Given the description of an element on the screen output the (x, y) to click on. 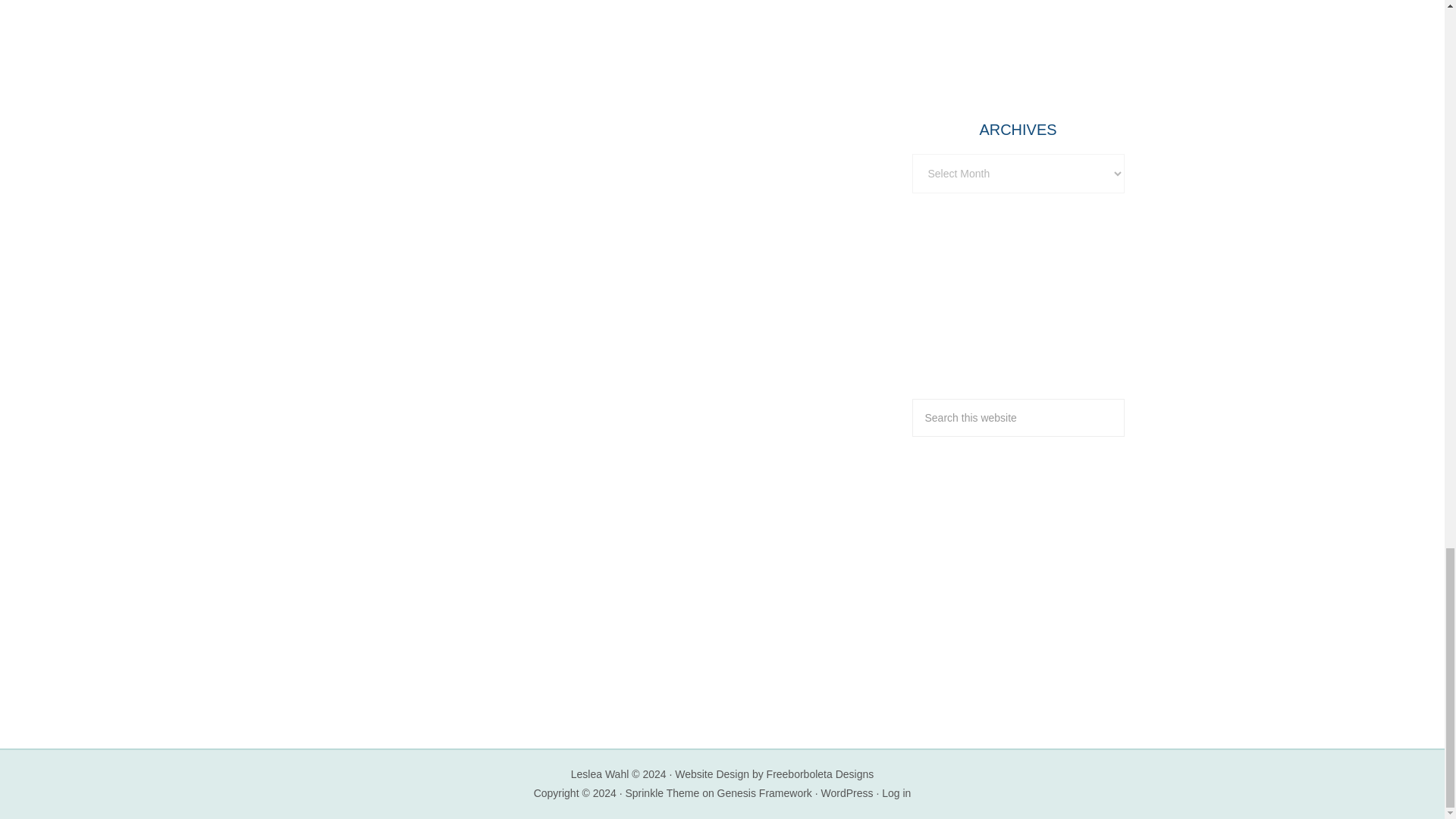
Freeborboleta Designs (821, 774)
Sprinkle Theme (661, 793)
Genesis Framework (764, 793)
WordPress (847, 793)
Log in (896, 793)
